Given the description of an element on the screen output the (x, y) to click on. 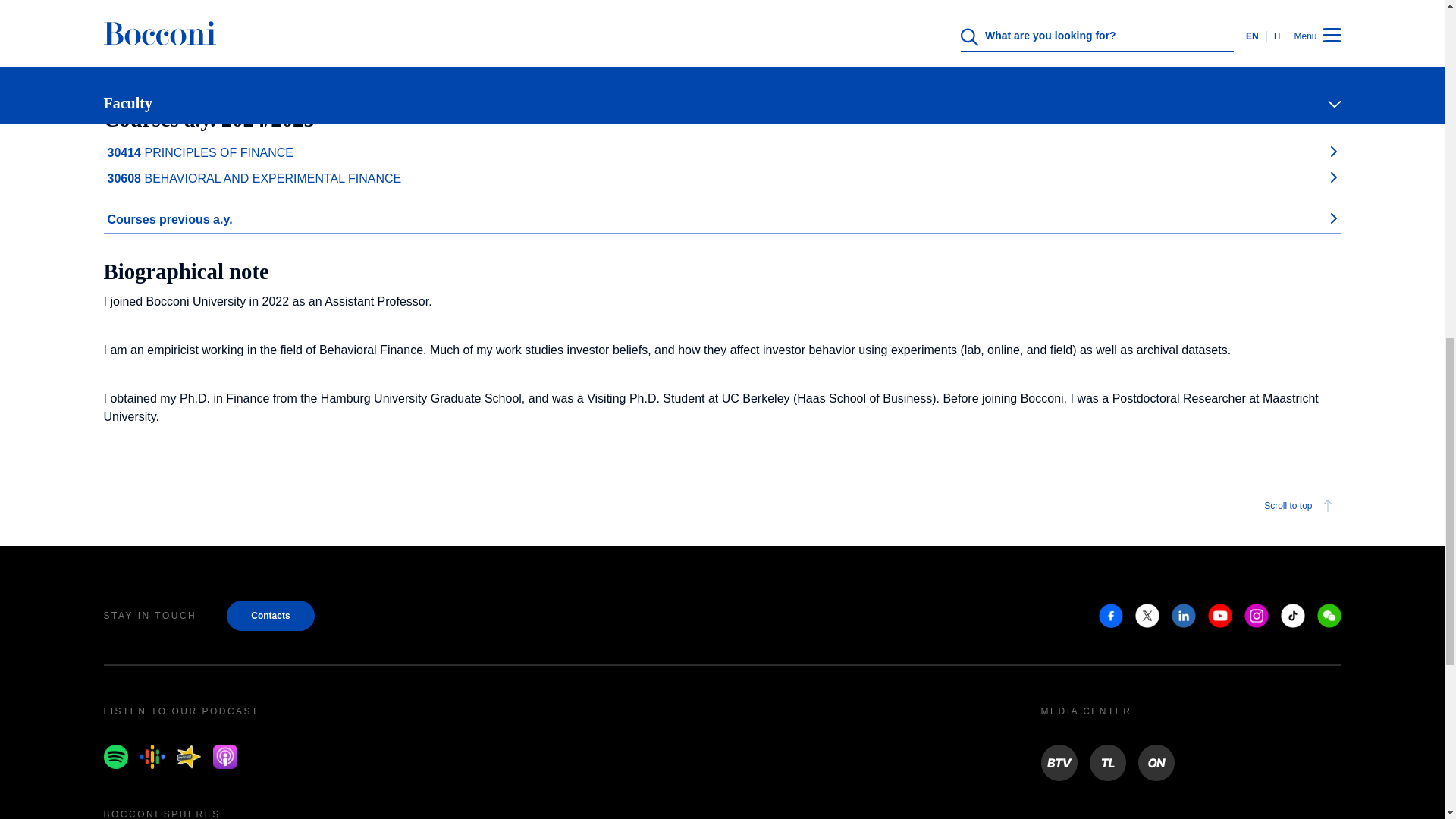
Twitter (1146, 615)
Linkedin (1182, 615)
Instagram (1255, 615)
Facebook (1109, 615)
Weechat (1328, 615)
Scroll to top (1299, 505)
Youtube (1219, 615)
Tiktok (1291, 615)
Scroll to top (721, 505)
